Given the description of an element on the screen output the (x, y) to click on. 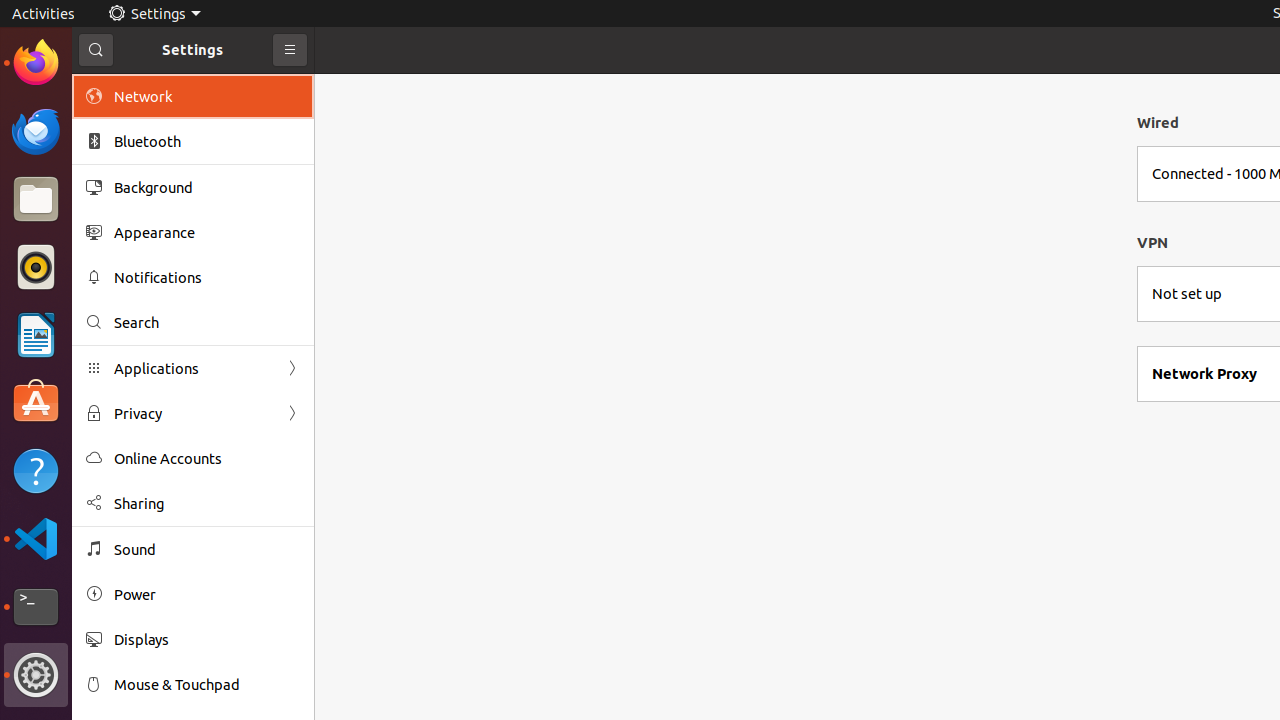
Search Element type: label (207, 322)
Background Element type: label (207, 187)
Privacy Element type: label (193, 413)
Bluetooth Element type: label (207, 141)
Displays Element type: label (207, 639)
